Given the description of an element on the screen output the (x, y) to click on. 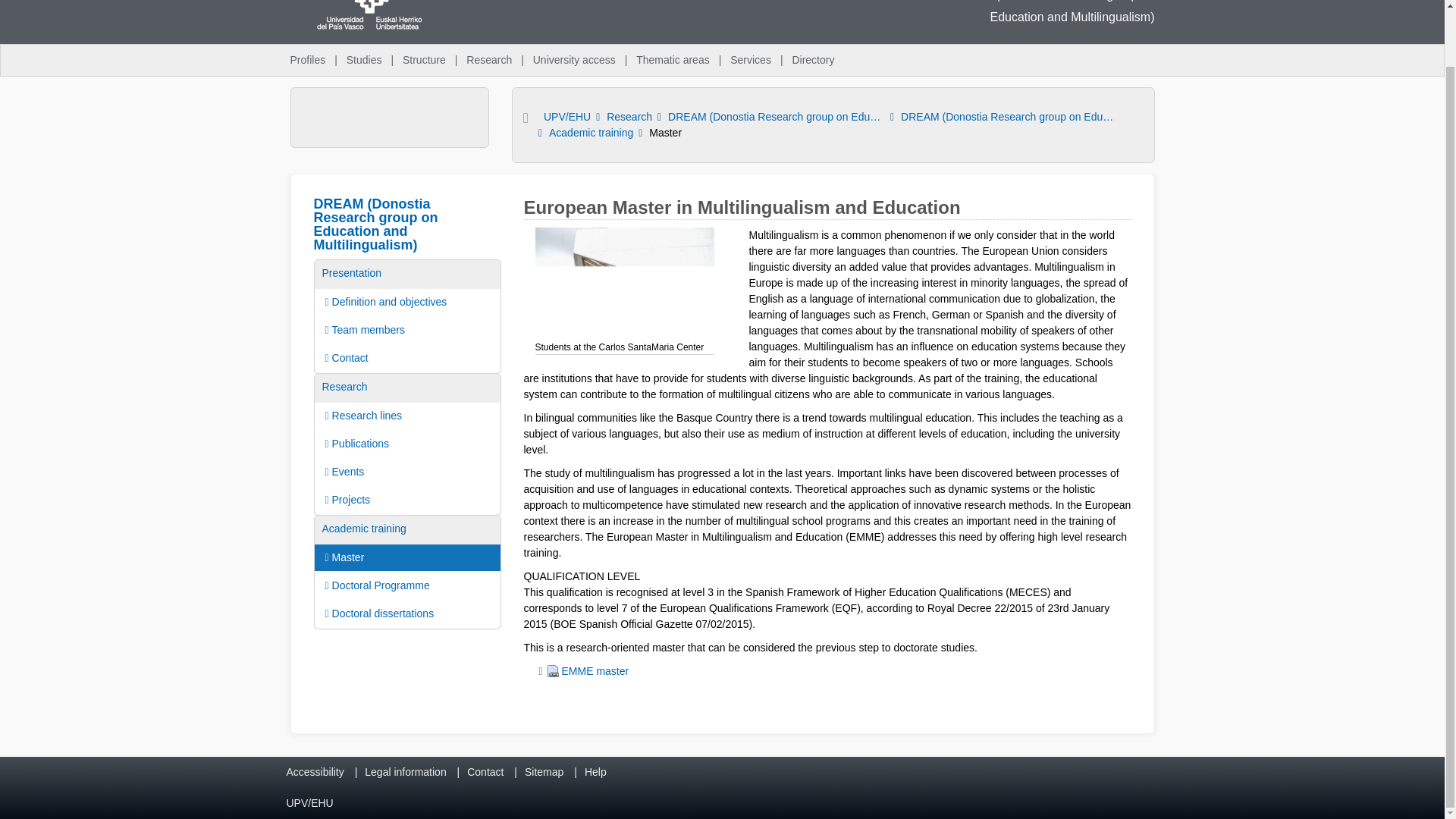
Directory (812, 60)
Services (750, 60)
Studies (364, 60)
Thematic areas (672, 60)
Academic training (590, 132)
Profiles (307, 60)
Research (488, 60)
Structure (423, 60)
Research (629, 116)
University access (574, 60)
